Given the description of an element on the screen output the (x, y) to click on. 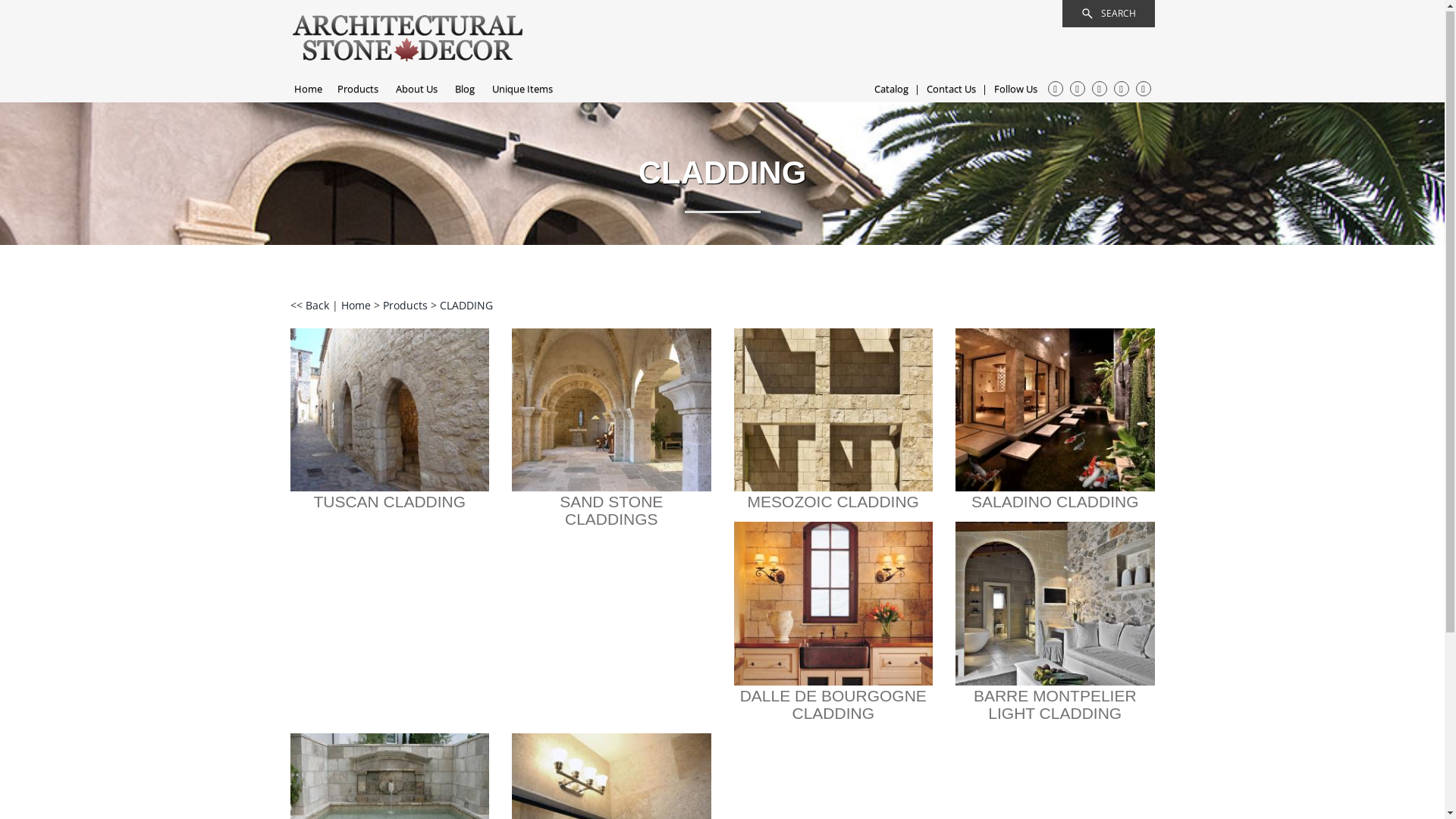
About Us Element type: text (416, 89)
SAND STONE CLADDINGS Element type: text (610, 510)
DALLE DE BOURGOGNE CLADDING Element type: text (833, 704)
Products Element type: text (405, 305)
SEARCH Element type: text (1107, 14)
Unique Items Element type: text (521, 89)
SALADINO CLADDING Element type: text (1055, 502)
Blog Element type: text (464, 89)
Home Element type: text (357, 305)
Back Element type: text (317, 305)
CLADDING Element type: text (465, 305)
MESOZOIC CLADDING Element type: text (833, 502)
Home Element type: text (308, 89)
Follow Us Element type: text (1014, 89)
Contact Us Element type: text (950, 89)
TUSCAN CLADDING Element type: text (389, 502)
Products Element type: text (356, 89)
BARRE MONTPELIER LIGHT CLADDING Element type: text (1054, 704)
Catalog Element type: text (890, 89)
